Given the description of an element on the screen output the (x, y) to click on. 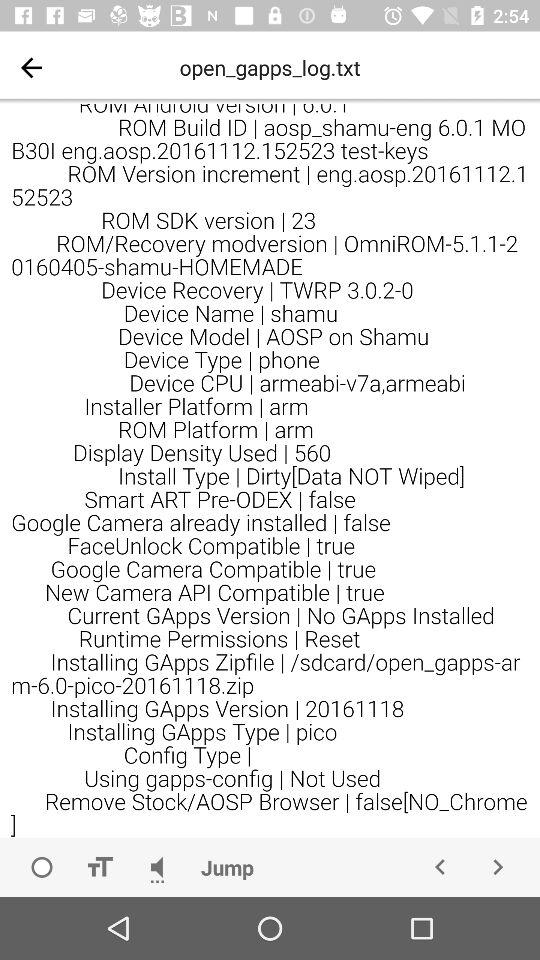
font size (99, 867)
